Given the description of an element on the screen output the (x, y) to click on. 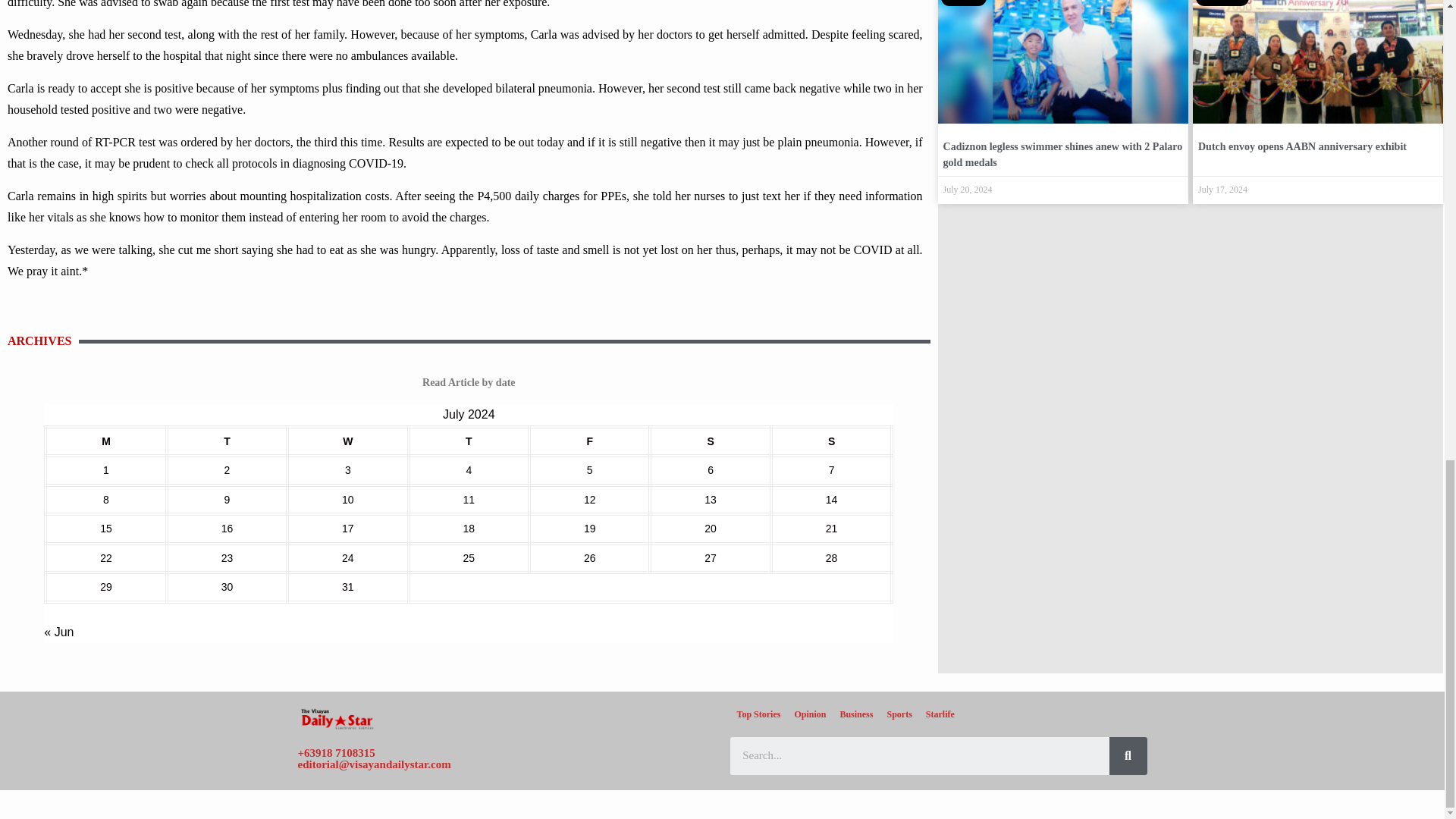
Saturday (709, 441)
19 (589, 528)
17 (347, 528)
13 (710, 499)
Monday (105, 441)
Thursday (469, 441)
20 (710, 528)
Search (918, 755)
Sunday (831, 441)
Friday (589, 441)
18 (468, 528)
Wednesday (346, 441)
Tuesday (226, 441)
10 (347, 499)
16 (226, 528)
